Given the description of an element on the screen output the (x, y) to click on. 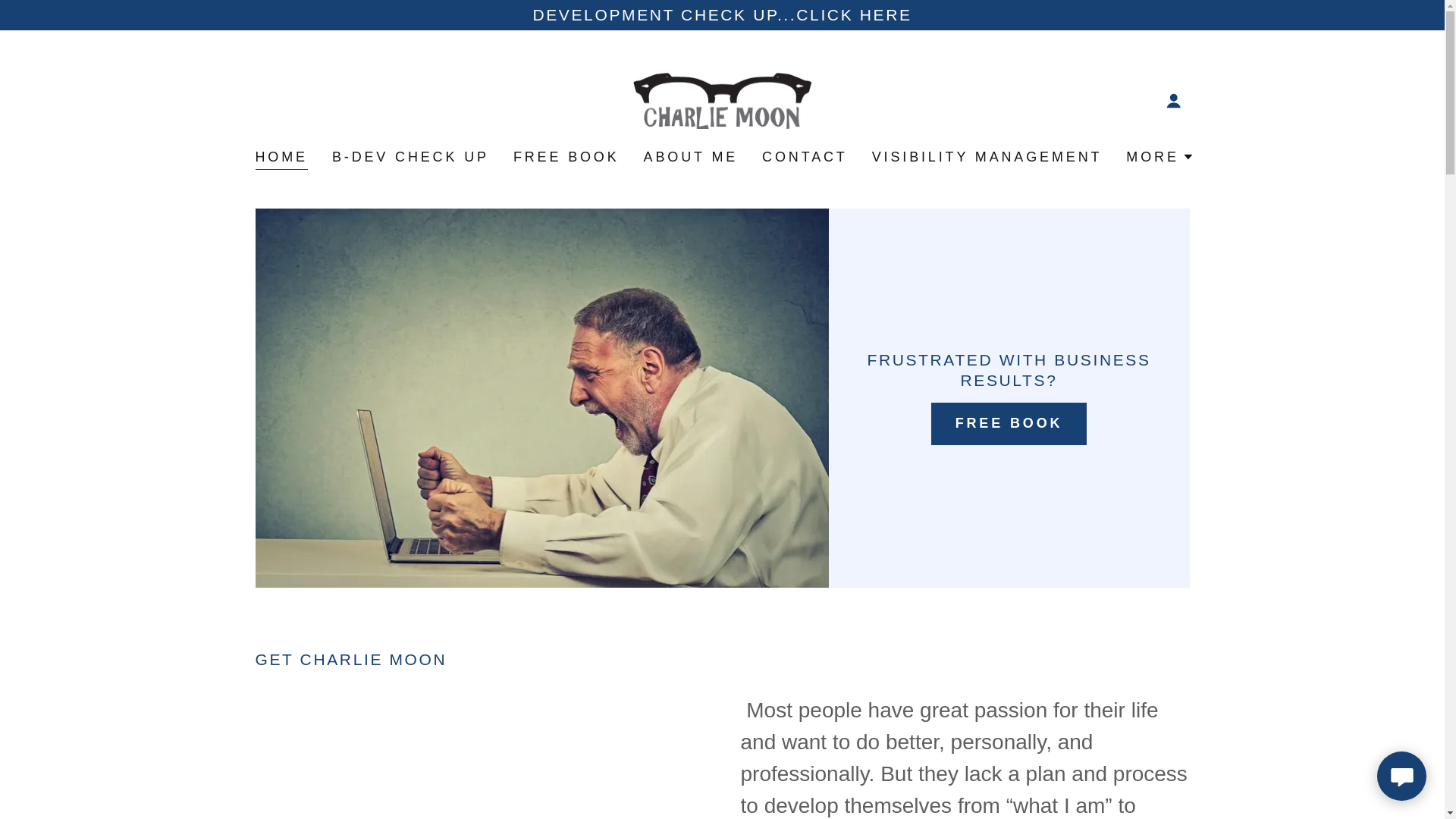
CONTACT (804, 155)
FREE BOOK (566, 155)
B-DEV CHECK UP (410, 155)
HOME (280, 157)
ABOUT ME (690, 155)
MORE (1159, 156)
VISIBILITY MANAGEMENT (986, 155)
